Given the description of an element on the screen output the (x, y) to click on. 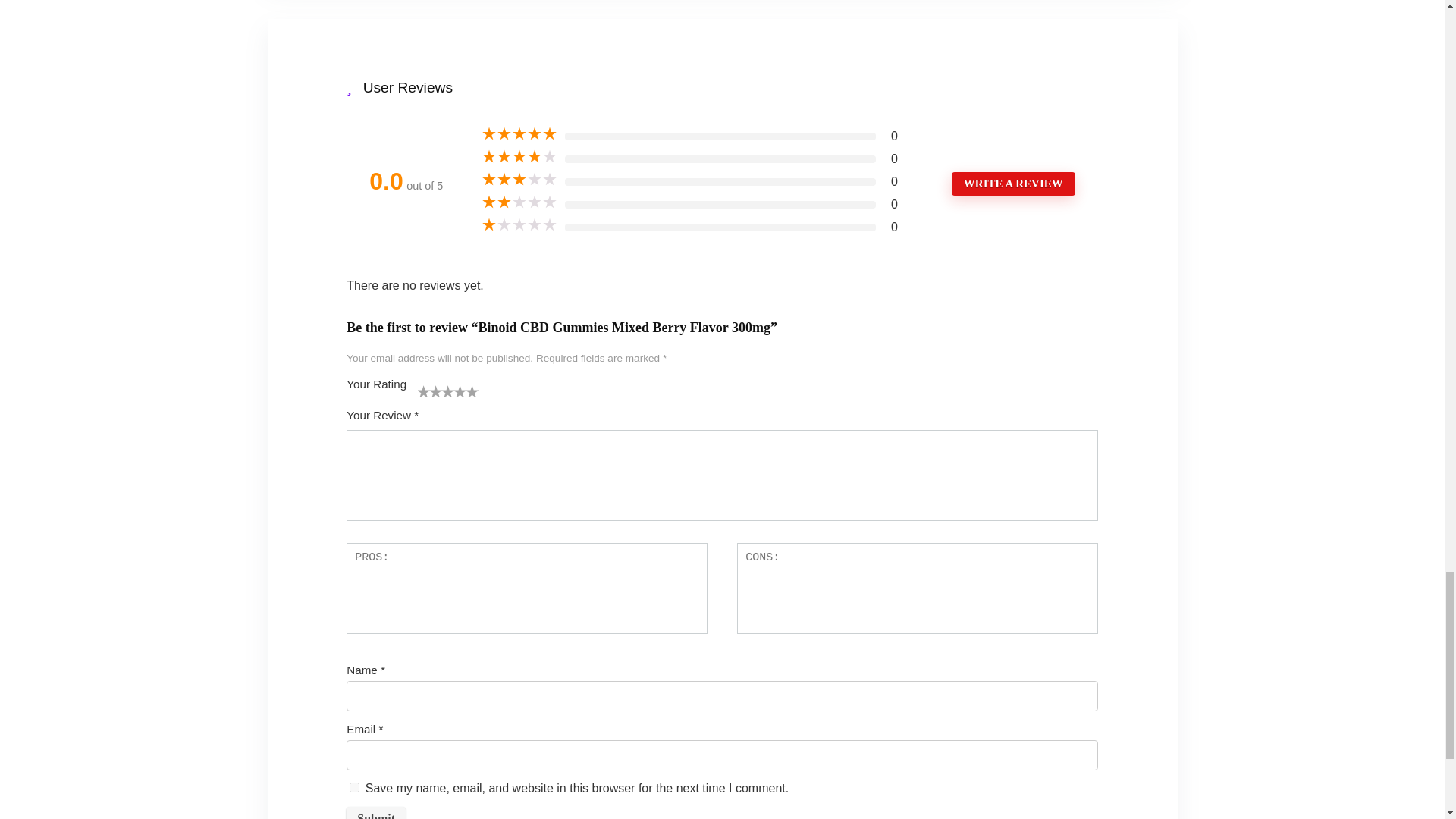
Rated 1 out of 5 (519, 224)
Rated 5 out of 5 (519, 133)
yes (354, 787)
Rated 2 out of 5 (519, 201)
WRITE A REVIEW (1013, 183)
Rated 4 out of 5 (519, 156)
Submit (376, 812)
Rated 3 out of 5 (519, 179)
